Given the description of an element on the screen output the (x, y) to click on. 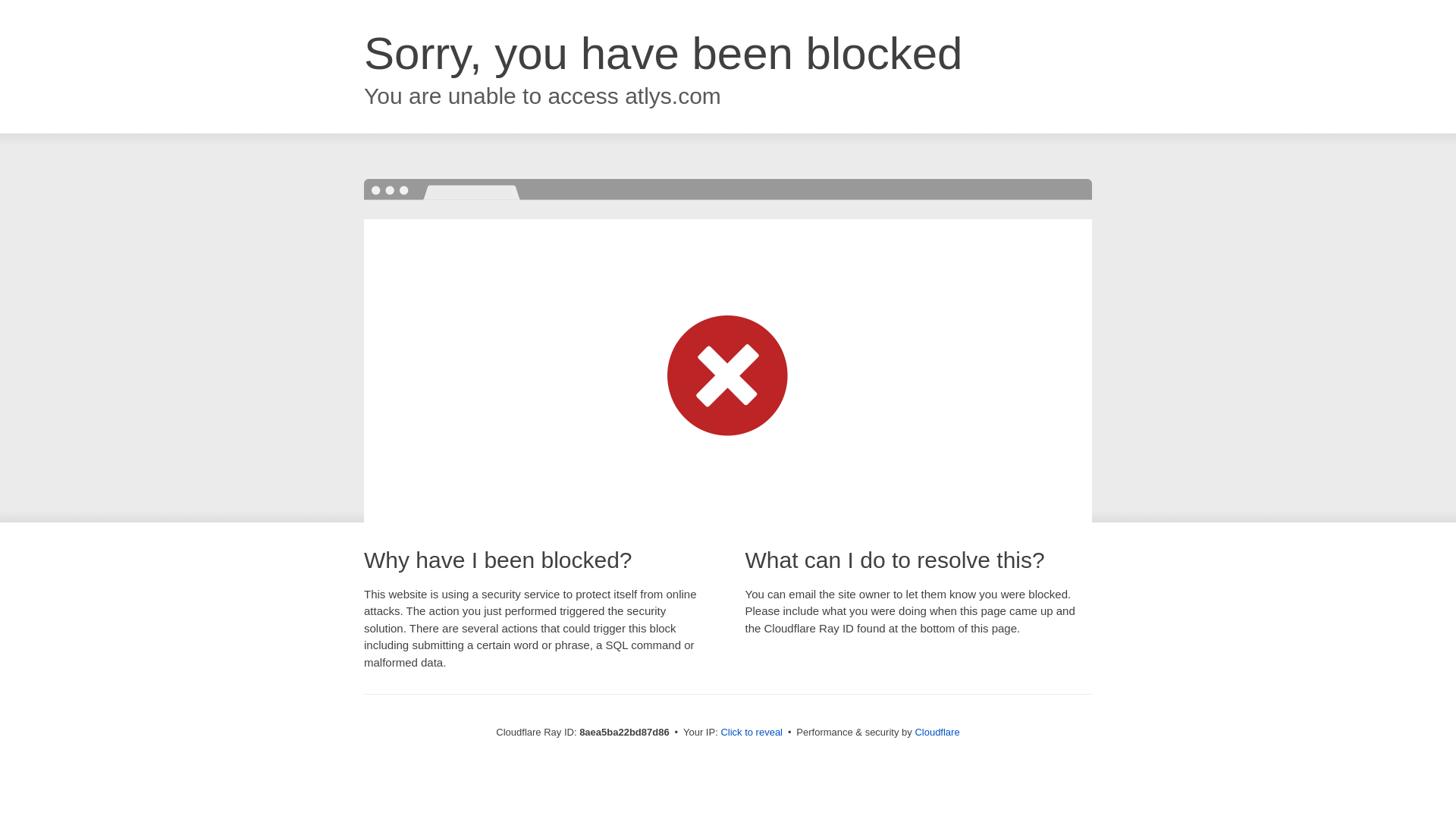
Cloudflare (936, 731)
Click to reveal (751, 732)
